Given the description of an element on the screen output the (x, y) to click on. 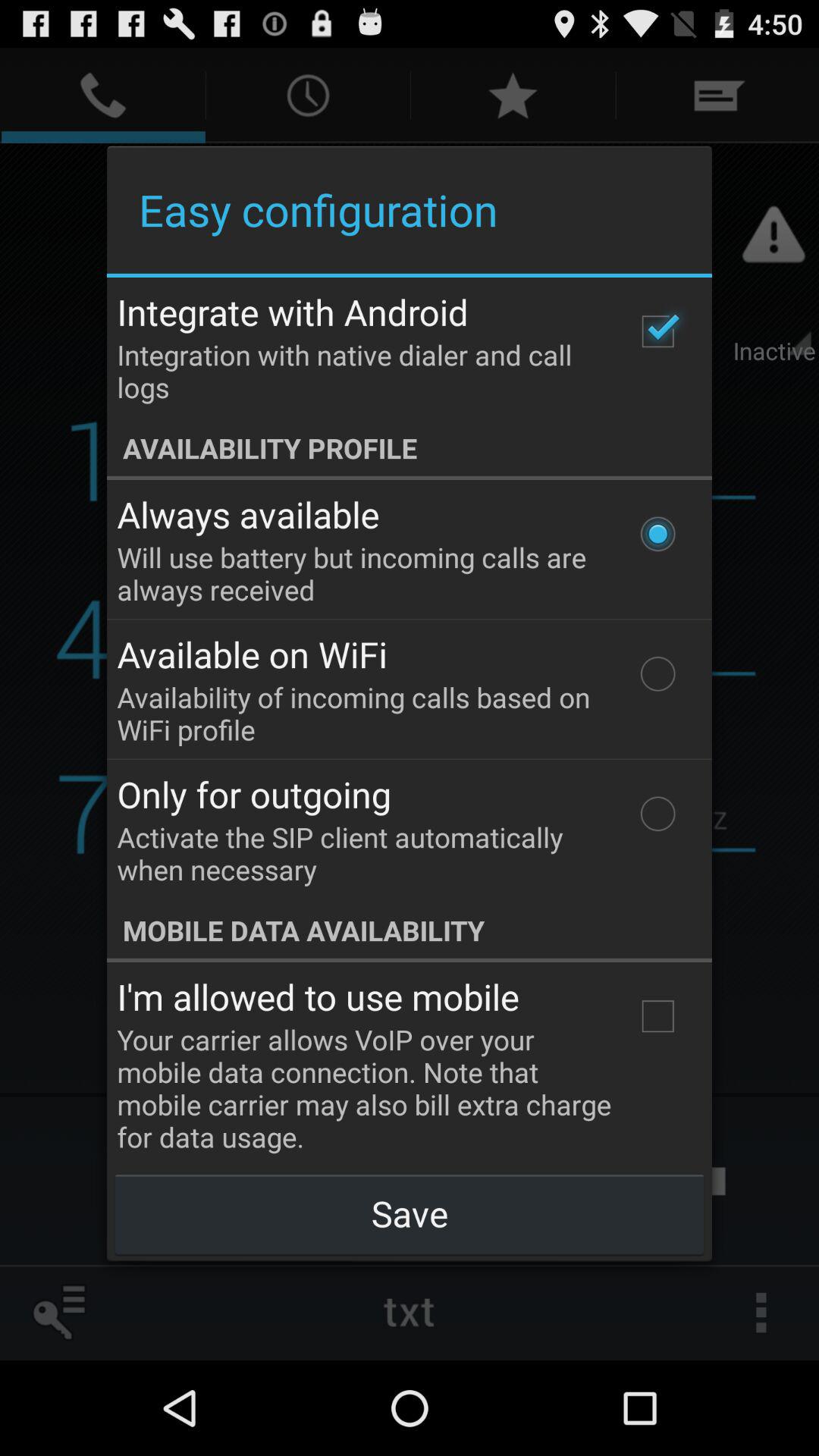
select the item to the right of the integrate with android (657, 331)
